Given the description of an element on the screen output the (x, y) to click on. 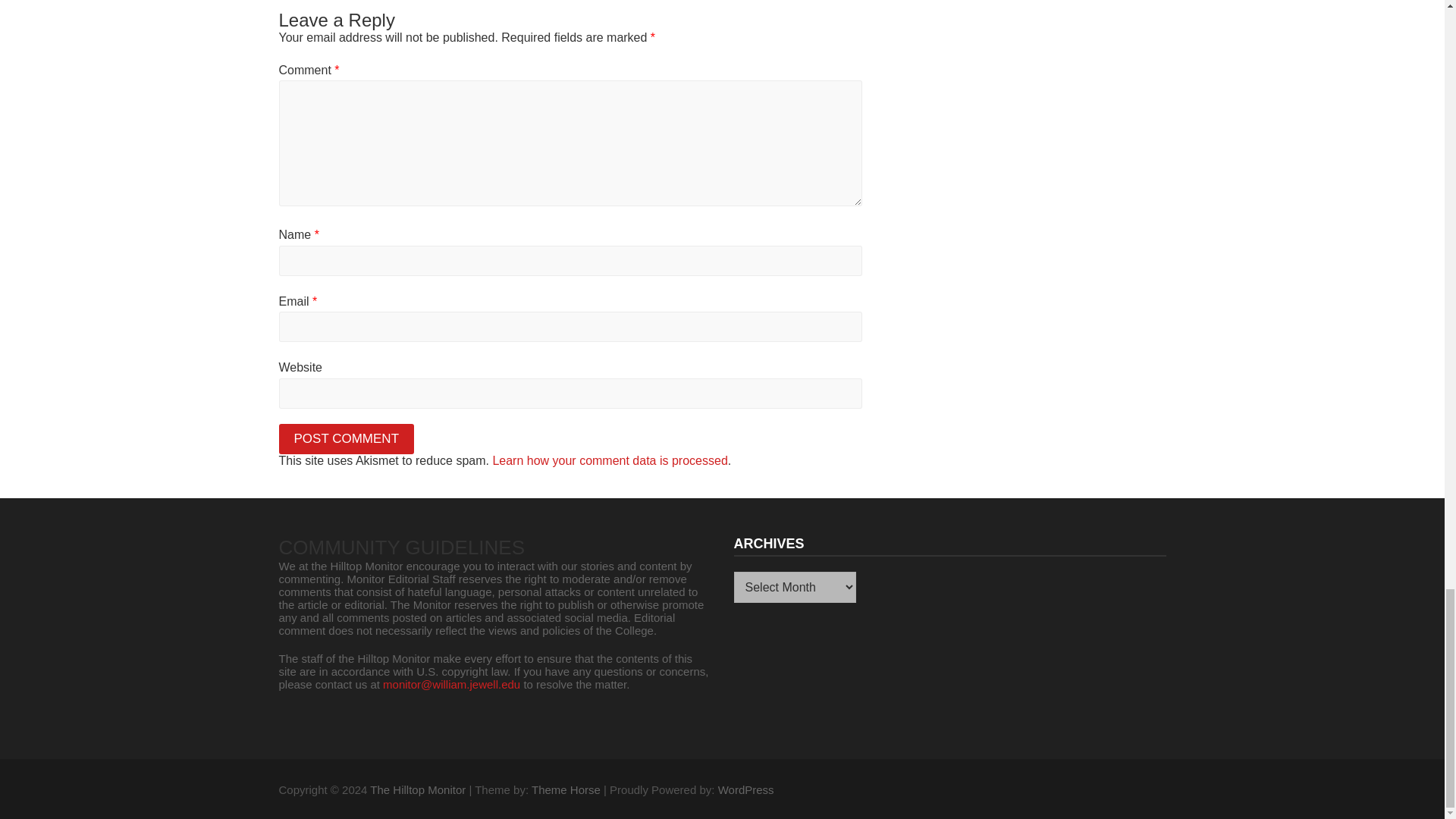
Post Comment (346, 439)
Theme Horse (565, 789)
WordPress (745, 789)
The Hilltop Monitor (417, 789)
